Given the description of an element on the screen output the (x, y) to click on. 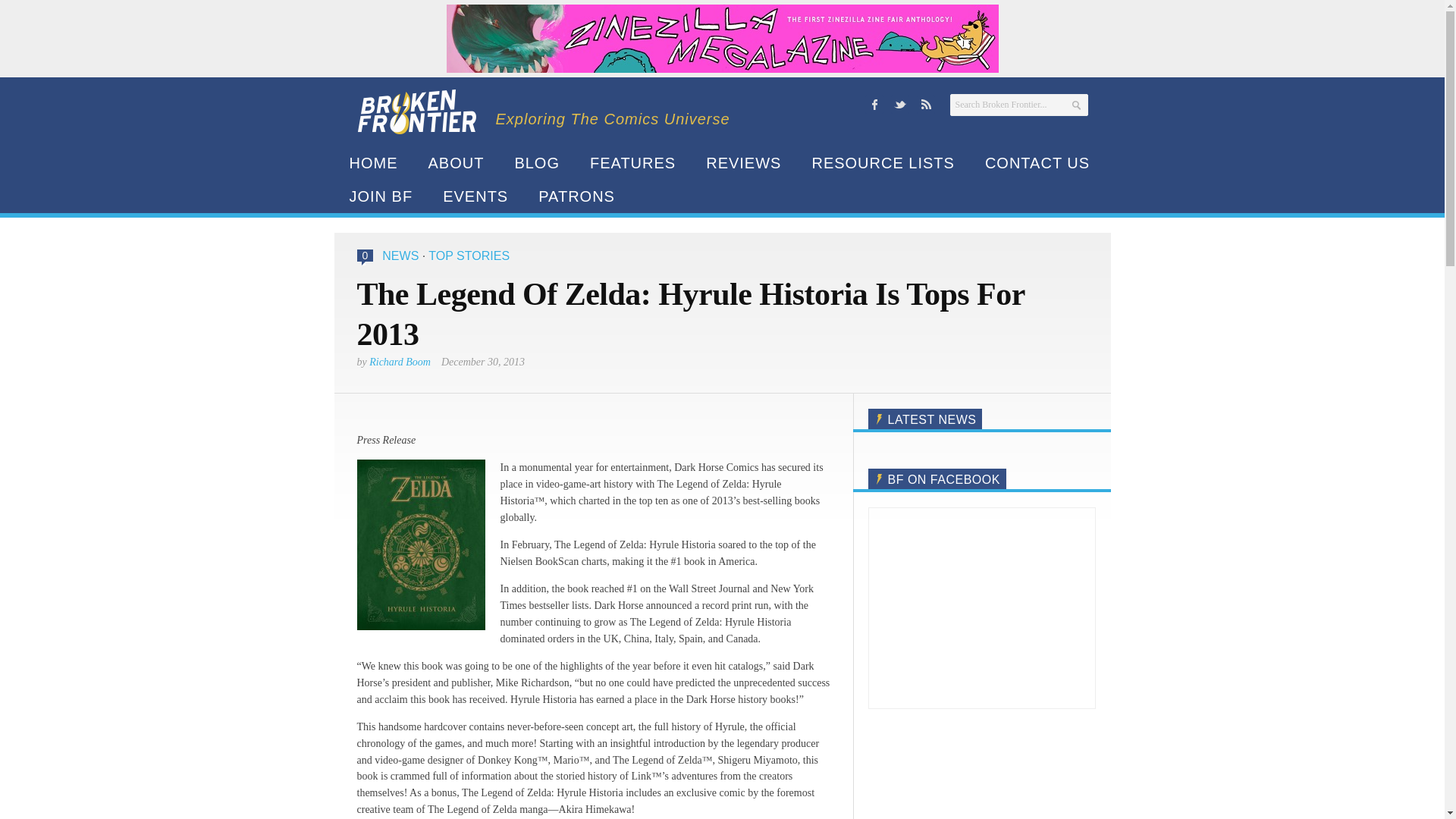
FEATURES (632, 162)
Posts by Richard Boom (399, 361)
Richard Boom (399, 361)
CONTACT US (1037, 162)
TOP STORIES (468, 255)
HOME (372, 162)
REVIEWS (743, 162)
EVENTS (475, 195)
RESOURCE LISTS (882, 162)
JOIN BF (380, 195)
